Given the description of an element on the screen output the (x, y) to click on. 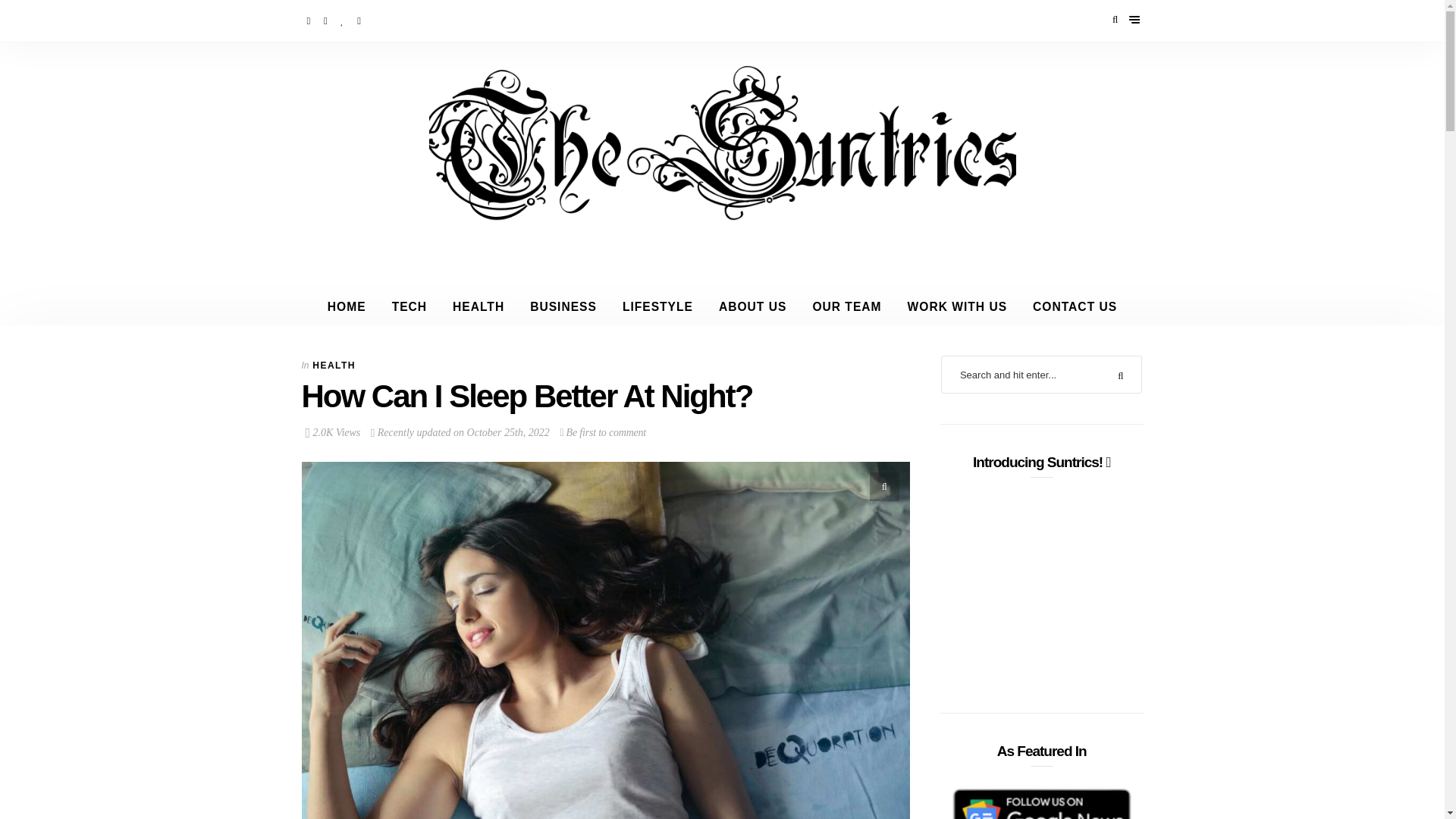
OUR TEAM (846, 307)
WORK WITH US (957, 307)
ABOUT US (752, 307)
HEALTH (334, 365)
LIFESTYLE (658, 307)
Twitter (326, 20)
HEALTH (477, 307)
Facebook (309, 20)
HOME (346, 307)
CONTACT US (1074, 307)
TECH (408, 307)
BUSINESS (563, 307)
Pinterest (360, 20)
Bloglovin (343, 20)
